Given the description of an element on the screen output the (x, y) to click on. 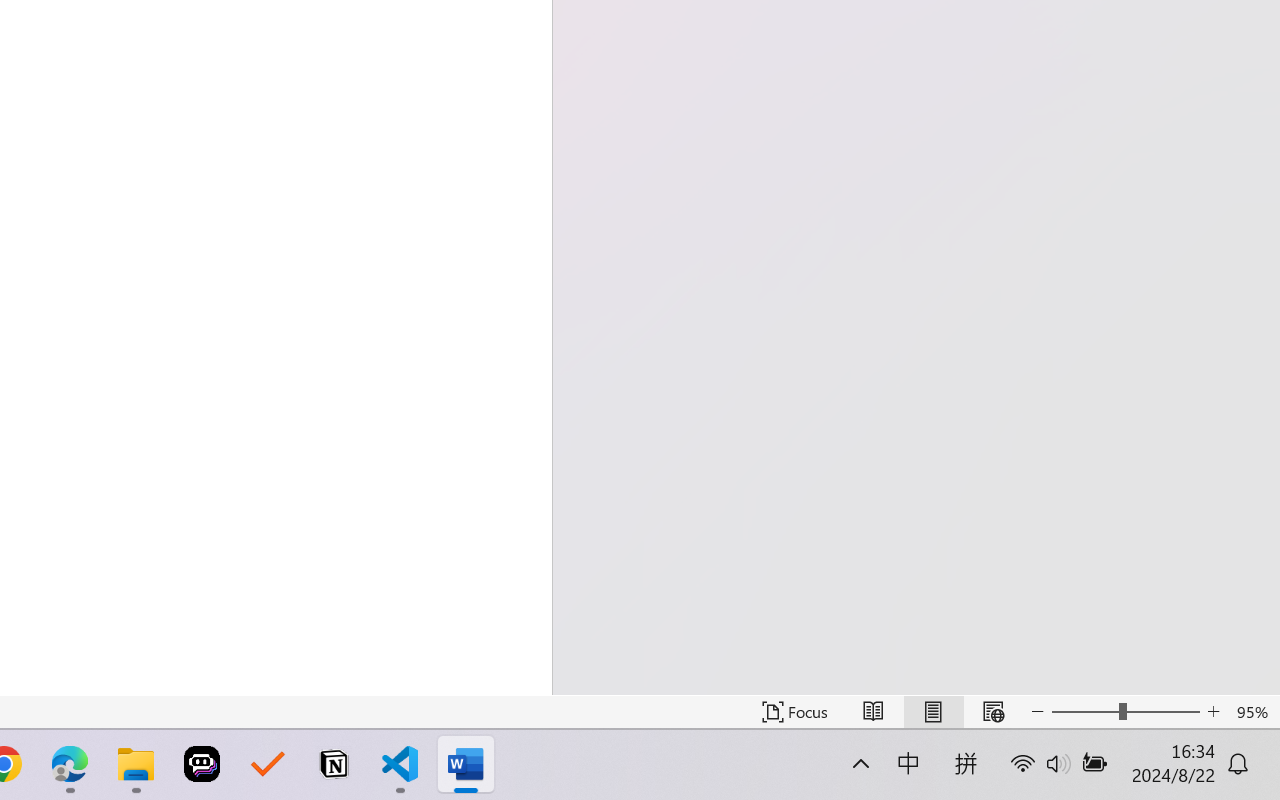
Zoom 95% (1253, 712)
